Given the description of an element on the screen output the (x, y) to click on. 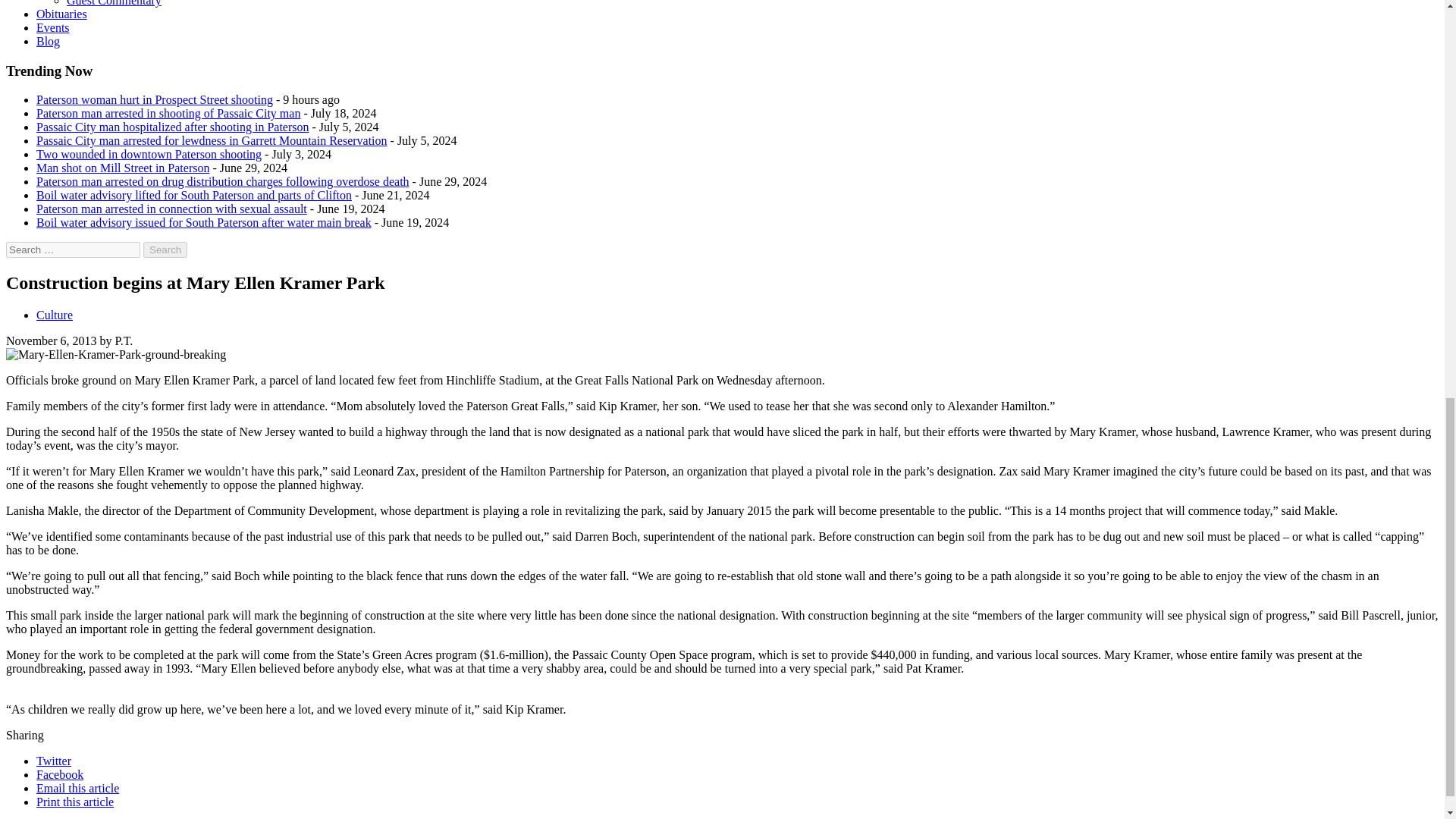
Search (164, 249)
